Given the description of an element on the screen output the (x, y) to click on. 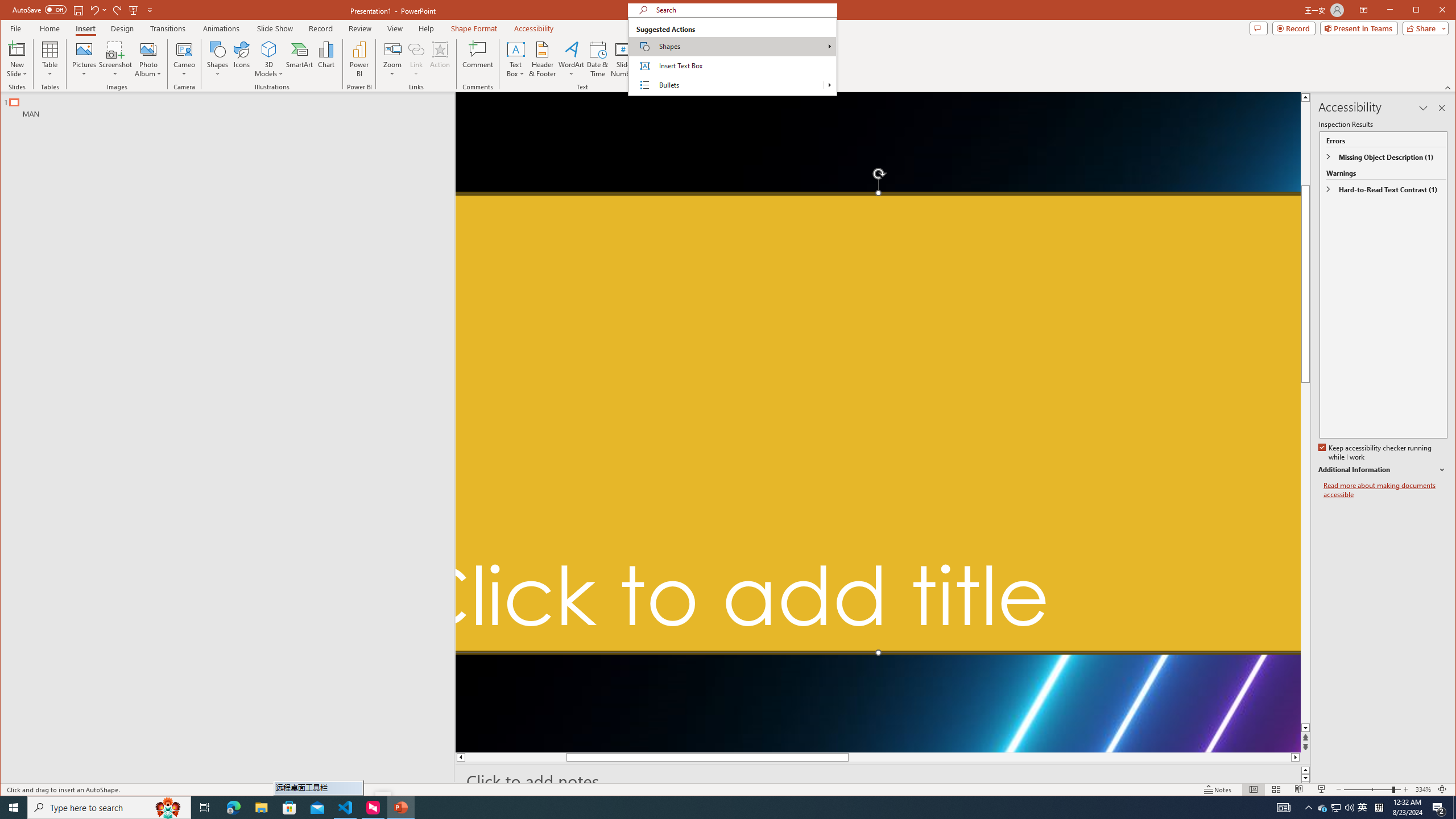
Keep accessibility checker running while I work (1375, 452)
Header & Footer... (542, 59)
Equation (685, 48)
Insert Text Box (731, 65)
Link (416, 59)
